Given the description of an element on the screen output the (x, y) to click on. 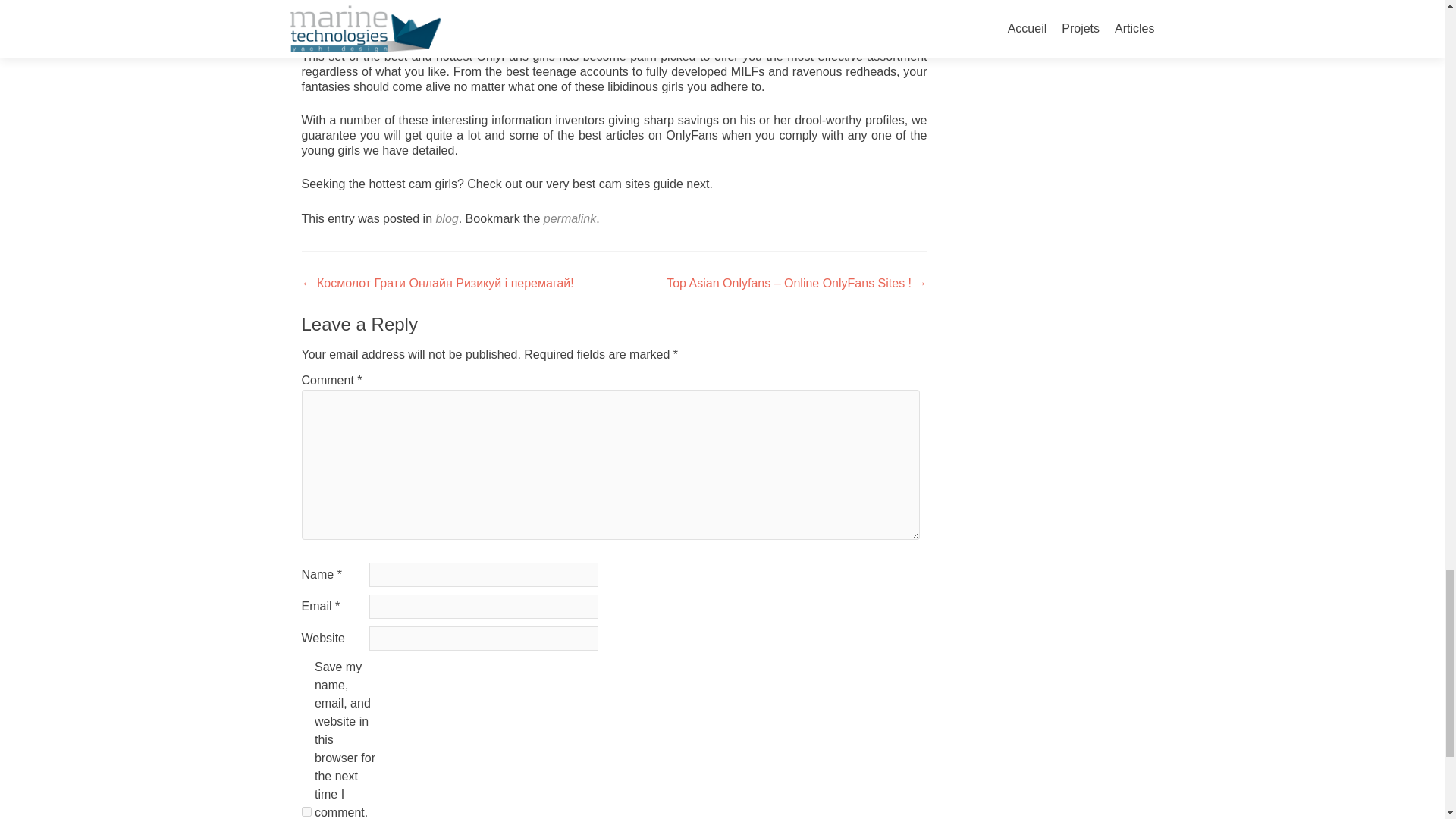
permalink (569, 218)
blog (446, 218)
yes (306, 811)
